Given the description of an element on the screen output the (x, y) to click on. 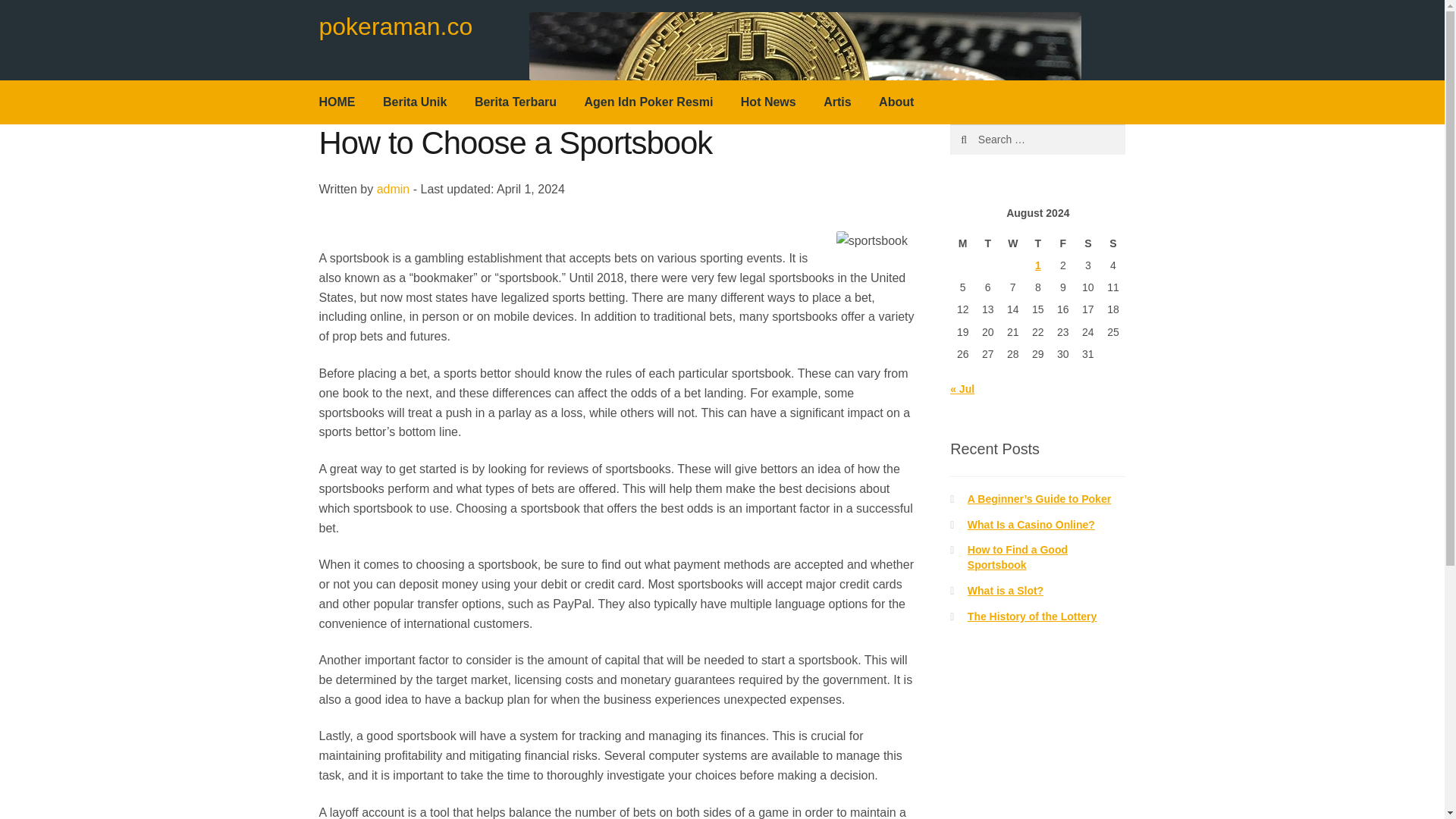
Wednesday (1012, 242)
admin (393, 188)
pokeraman.co (395, 26)
Artis (836, 102)
Tuesday (987, 242)
Berita Terbaru (516, 102)
HOME (337, 102)
The History of the Lottery (1032, 616)
How to Find a Good Sportsbook (1017, 556)
Hot News (768, 102)
Sunday (1112, 242)
Search (982, 139)
Search (982, 139)
Saturday (1087, 242)
Search (982, 139)
